Given the description of an element on the screen output the (x, y) to click on. 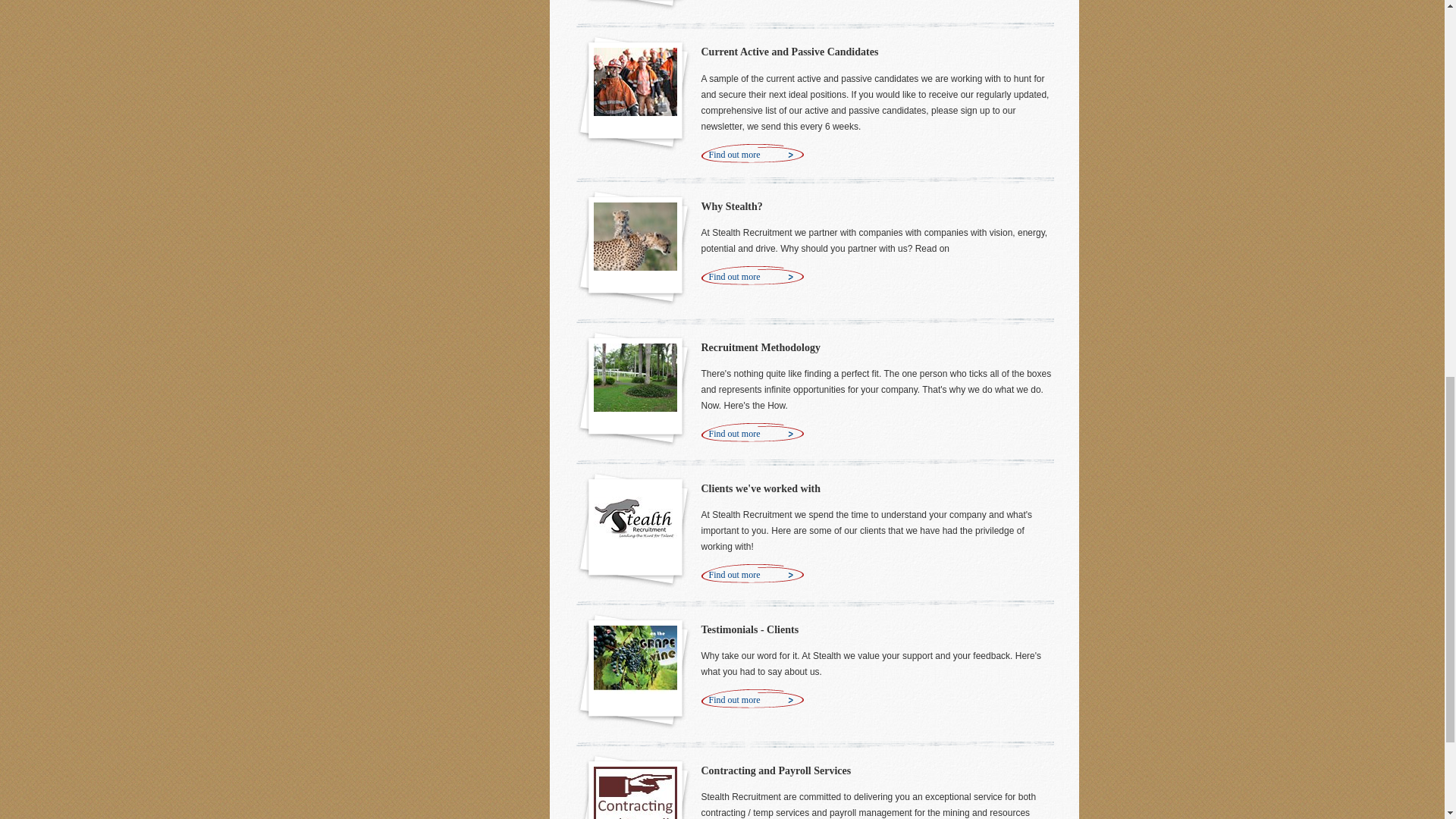
Find out more (751, 276)
Why Stealth? (730, 206)
Current Active and Passive Candidates (788, 51)
Find out more (751, 154)
